Given the description of an element on the screen output the (x, y) to click on. 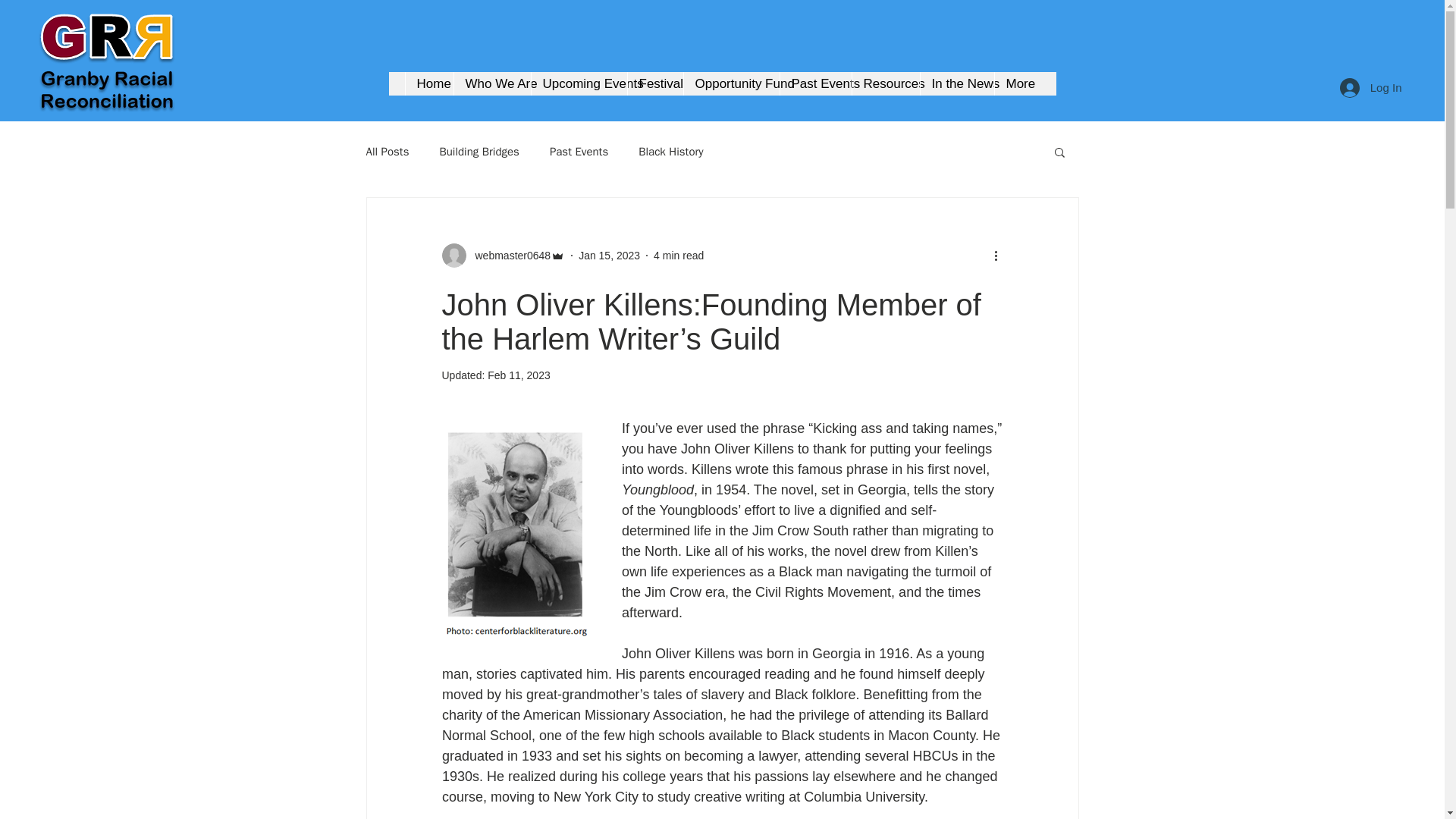
Opportunity Fund (730, 83)
Feb 11, 2023 (518, 375)
In the News (955, 83)
Who We Are (491, 83)
Upcoming Events (579, 83)
Jan 15, 2023 (609, 254)
webmaster0648 (507, 254)
Home (428, 83)
Log In (1370, 86)
webmaster0648 (502, 255)
